Given the description of an element on the screen output the (x, y) to click on. 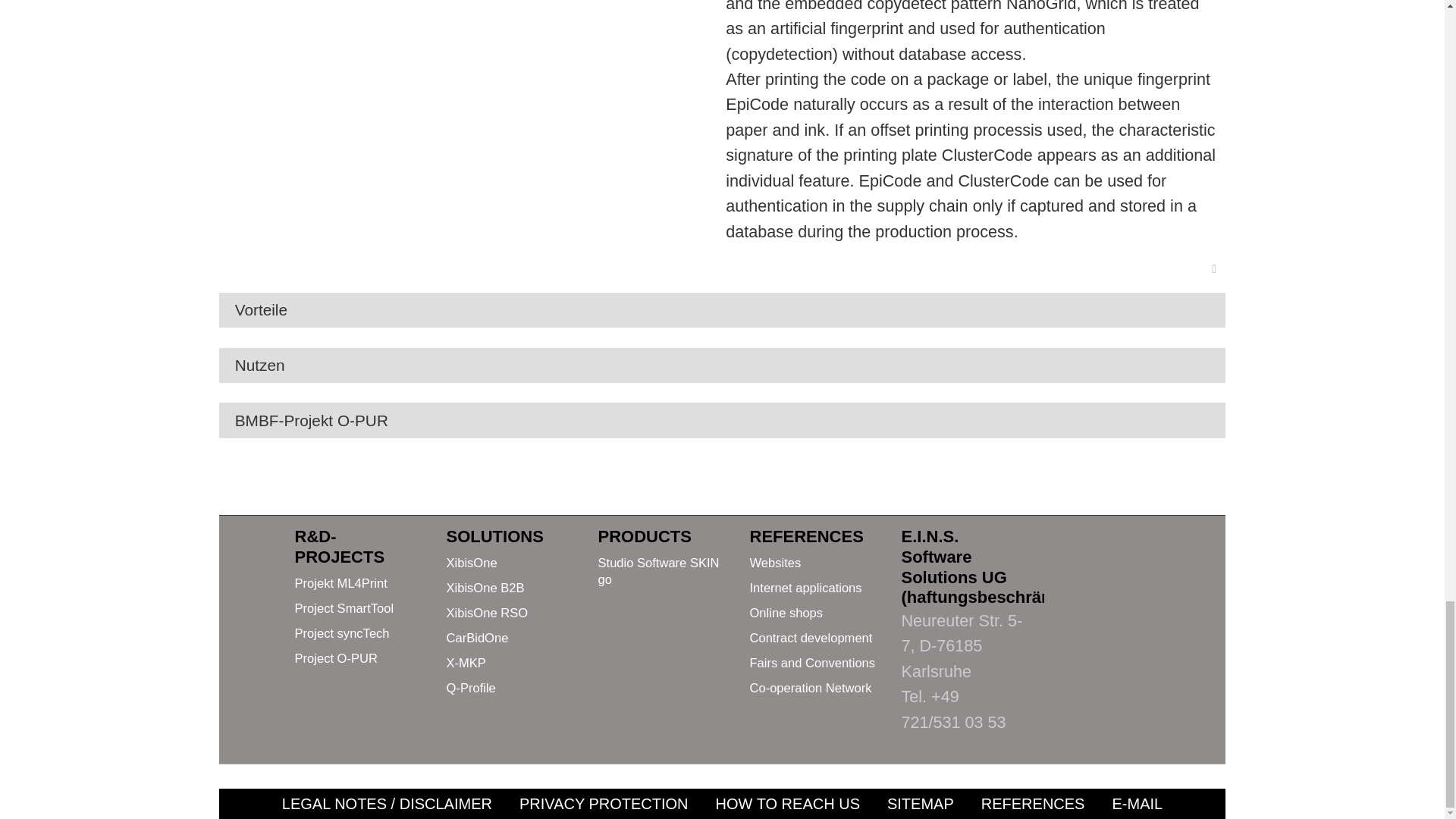
Project SmartTool (343, 608)
Nutzen (266, 364)
Q-Profile (470, 687)
Project syncTech (341, 633)
X-MKP (464, 663)
Contract development (810, 637)
BMBF-Projekt O-PUR (318, 420)
XibisOne B2B (484, 587)
XibisOne RSO (486, 612)
REFERENCES (806, 536)
